Given the description of an element on the screen output the (x, y) to click on. 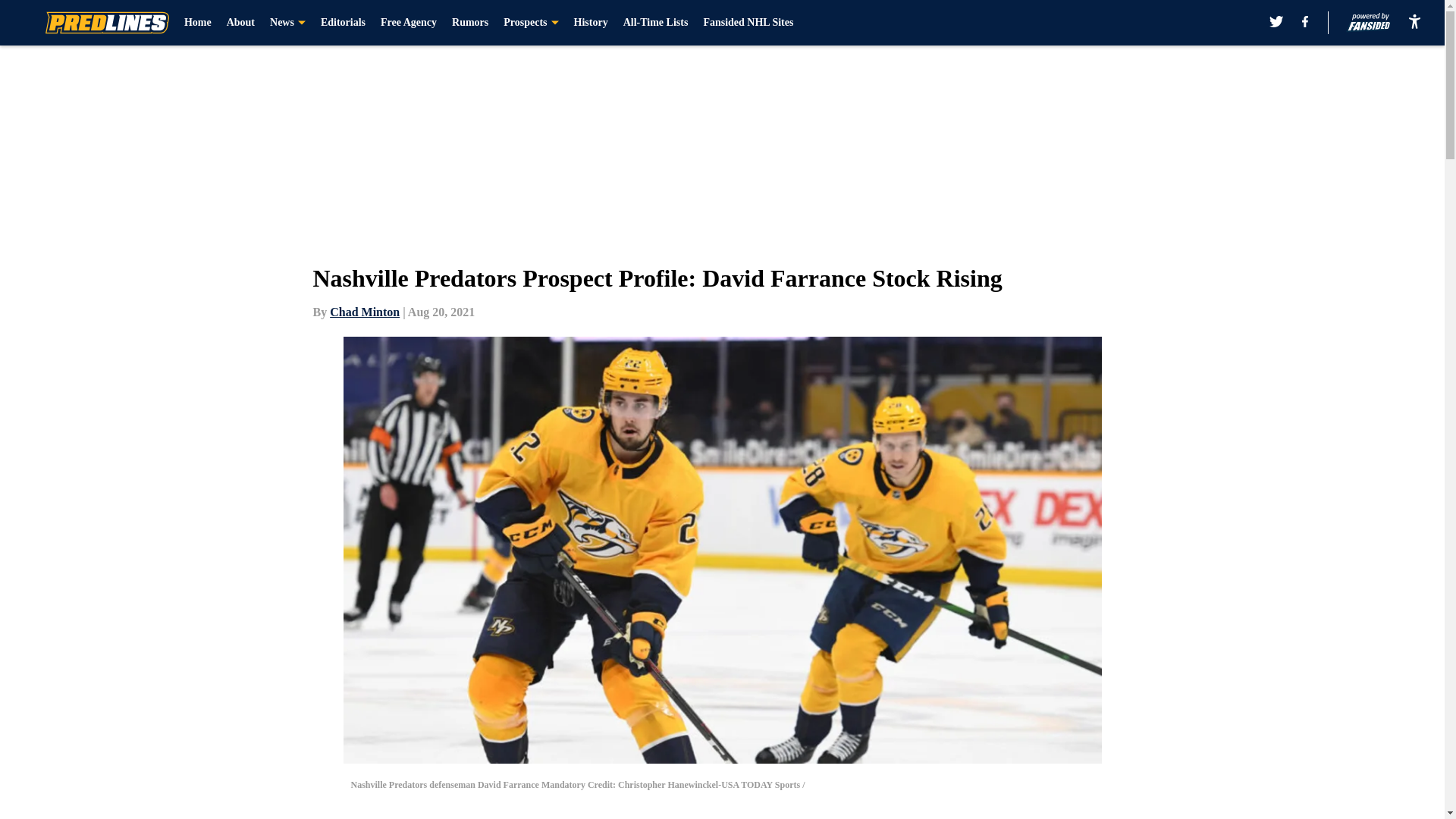
Free Agency (408, 22)
Rumors (469, 22)
About (240, 22)
Chad Minton (364, 311)
Editorials (342, 22)
History (590, 22)
All-Time Lists (655, 22)
Home (197, 22)
Fansided NHL Sites (748, 22)
